Given the description of an element on the screen output the (x, y) to click on. 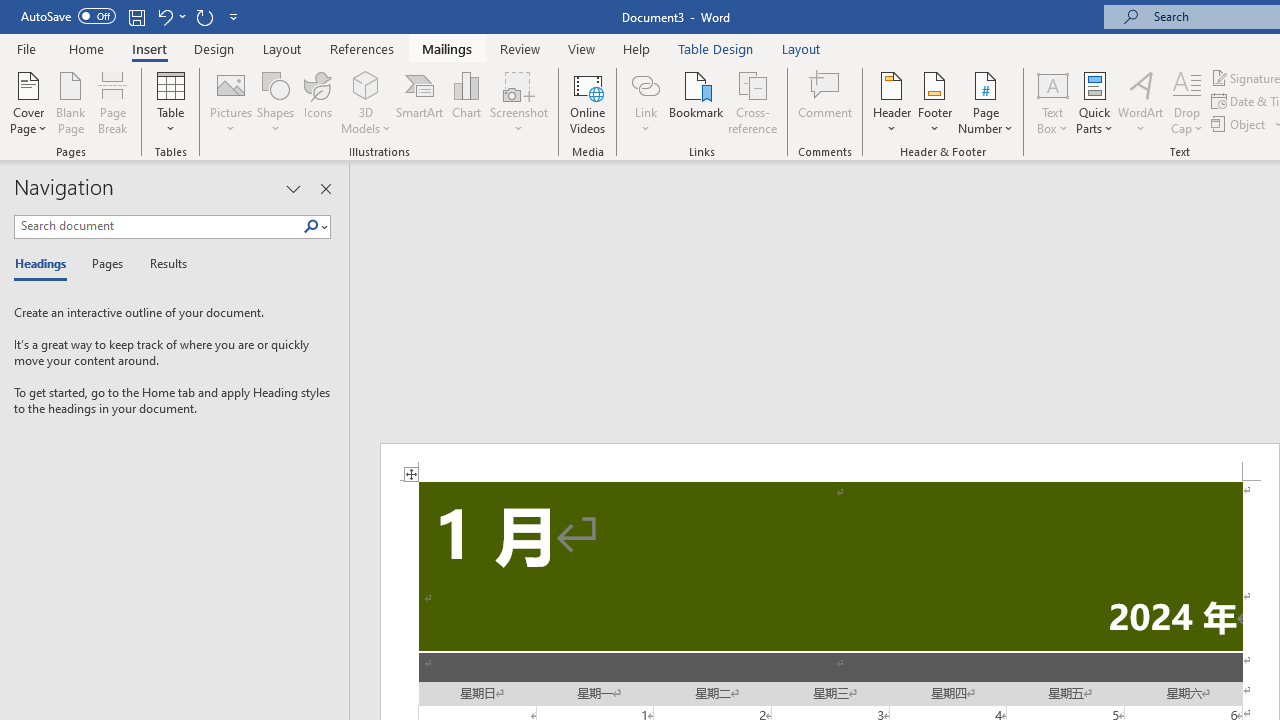
Link (645, 102)
Quick Parts (1094, 102)
Text Box (1052, 102)
Chart... (466, 102)
Header -Section 1- (830, 461)
Link (645, 84)
